Given the description of an element on the screen output the (x, y) to click on. 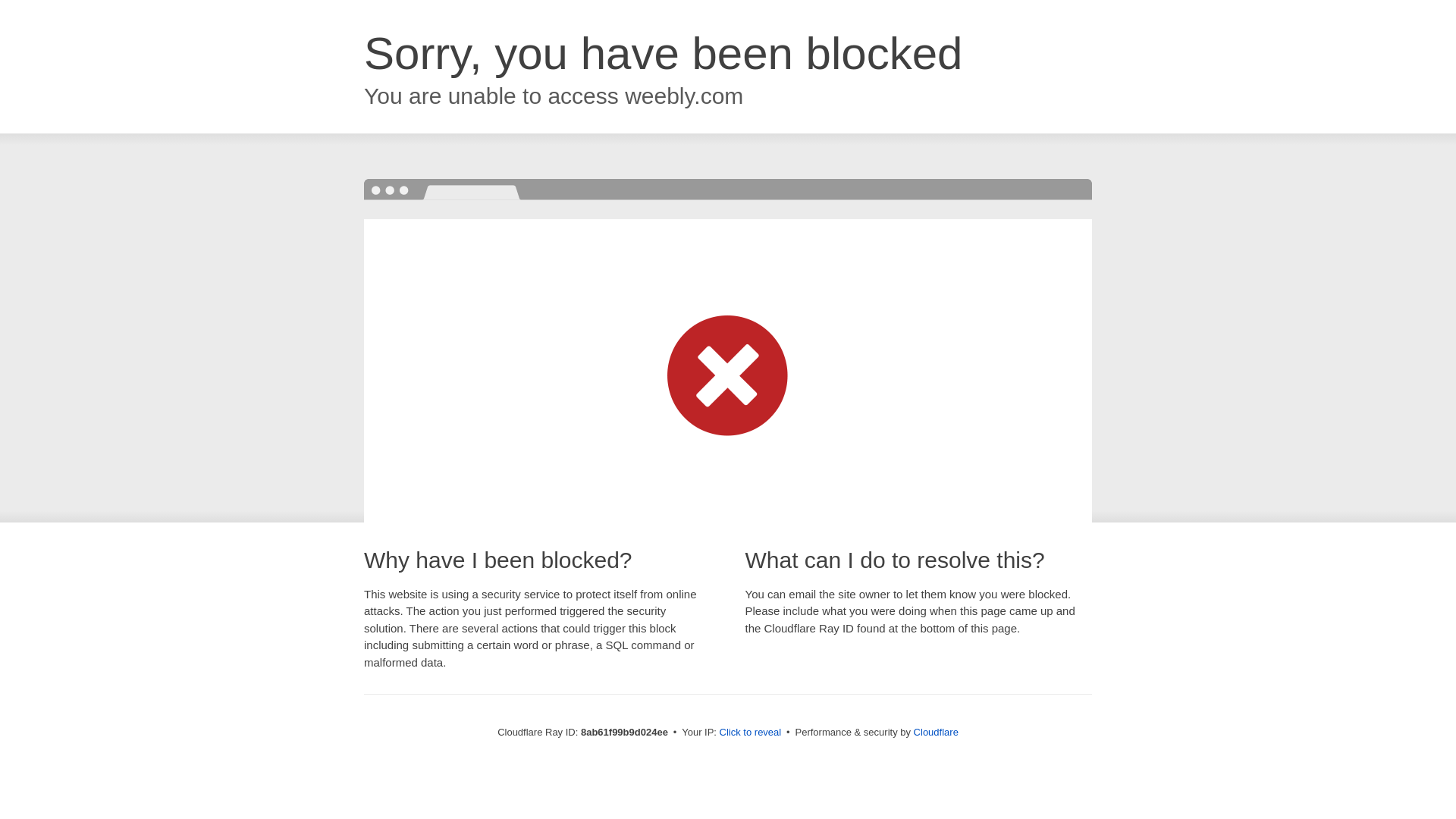
Click to reveal (750, 732)
Cloudflare (936, 731)
